Given the description of an element on the screen output the (x, y) to click on. 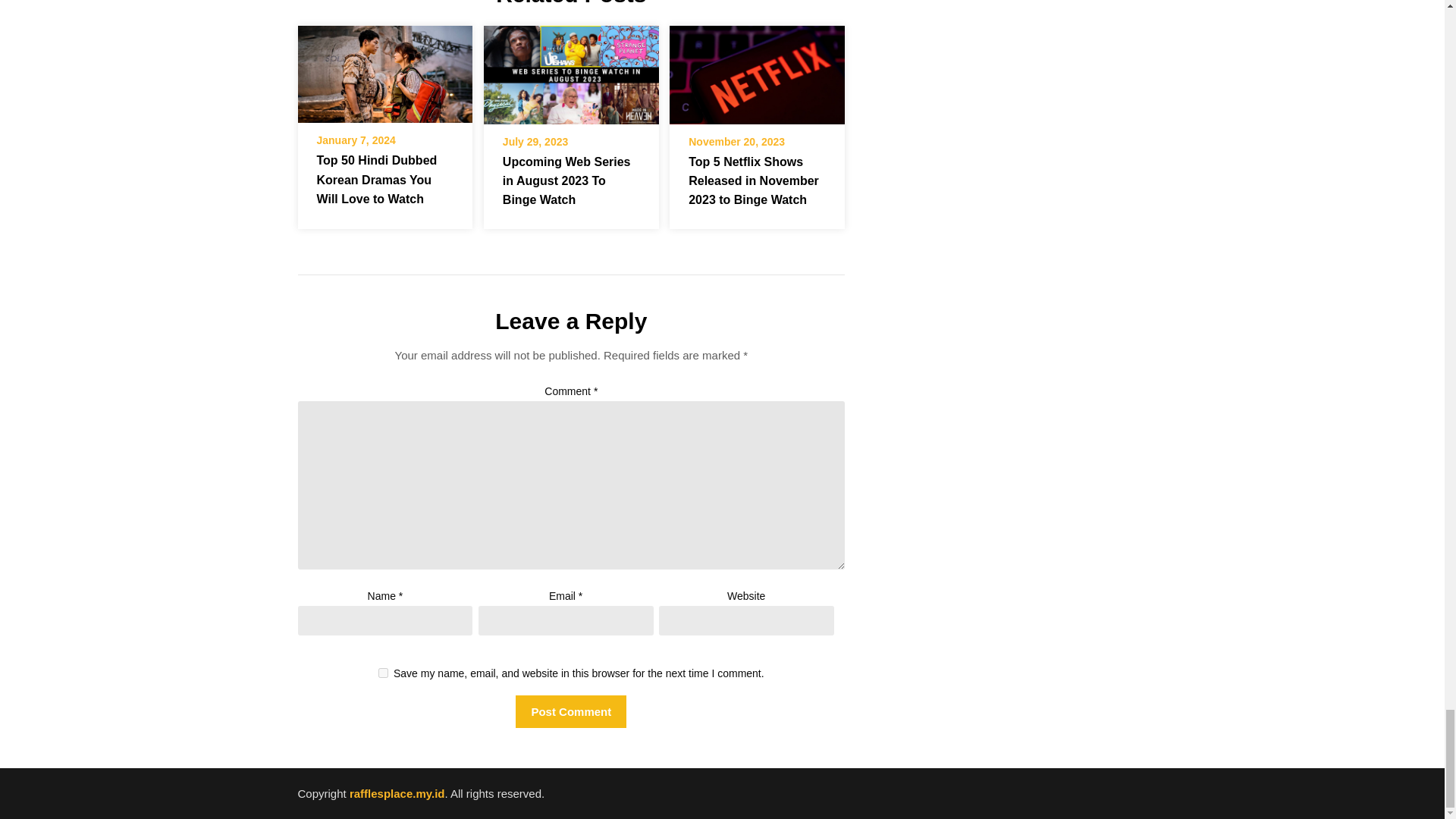
Top 5 Netflix Shows Released in November 2023 to Binge Watch (756, 74)
Top 50 Hindi Dubbed Korean Dramas You Will Love to Watch (377, 178)
yes (383, 673)
Top 50 Hindi Dubbed Korean Dramas You Will Love to Watch (384, 69)
Upcoming Web Series in August 2023 To Binge Watch (566, 180)
Top 50 Hindi Dubbed Korean Dramas You Will Love to Watch (384, 73)
Post Comment (570, 711)
Upcoming Web Series in August 2023 To Binge Watch (571, 69)
Top 5 Netflix Shows Released in November 2023 to Binge Watch (756, 69)
Top 5 Netflix Shows Released in November 2023 to Binge Watch (753, 180)
Post Comment (570, 711)
Upcoming Web Series in August 2023 To Binge Watch (571, 74)
